Given the description of an element on the screen output the (x, y) to click on. 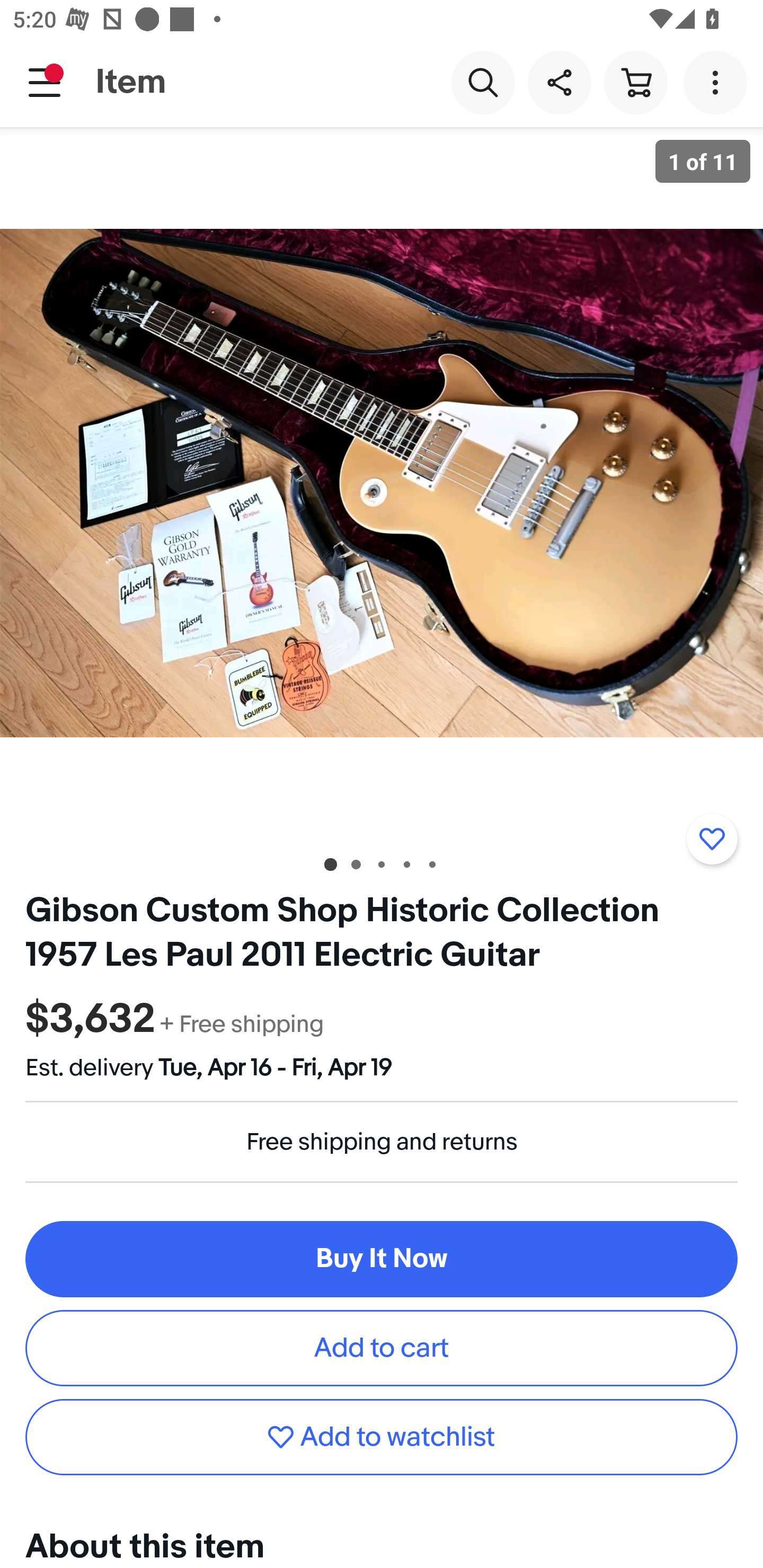
Main navigation, notification is pending, open (44, 82)
Search (482, 81)
Share this item (559, 81)
Cart button shopping cart (635, 81)
More options (718, 81)
Item image 1 of 11 (381, 482)
Add to watchlist (711, 838)
Buy It Now (381, 1258)
Add to cart (381, 1347)
Add to watchlist (381, 1436)
